Given the description of an element on the screen output the (x, y) to click on. 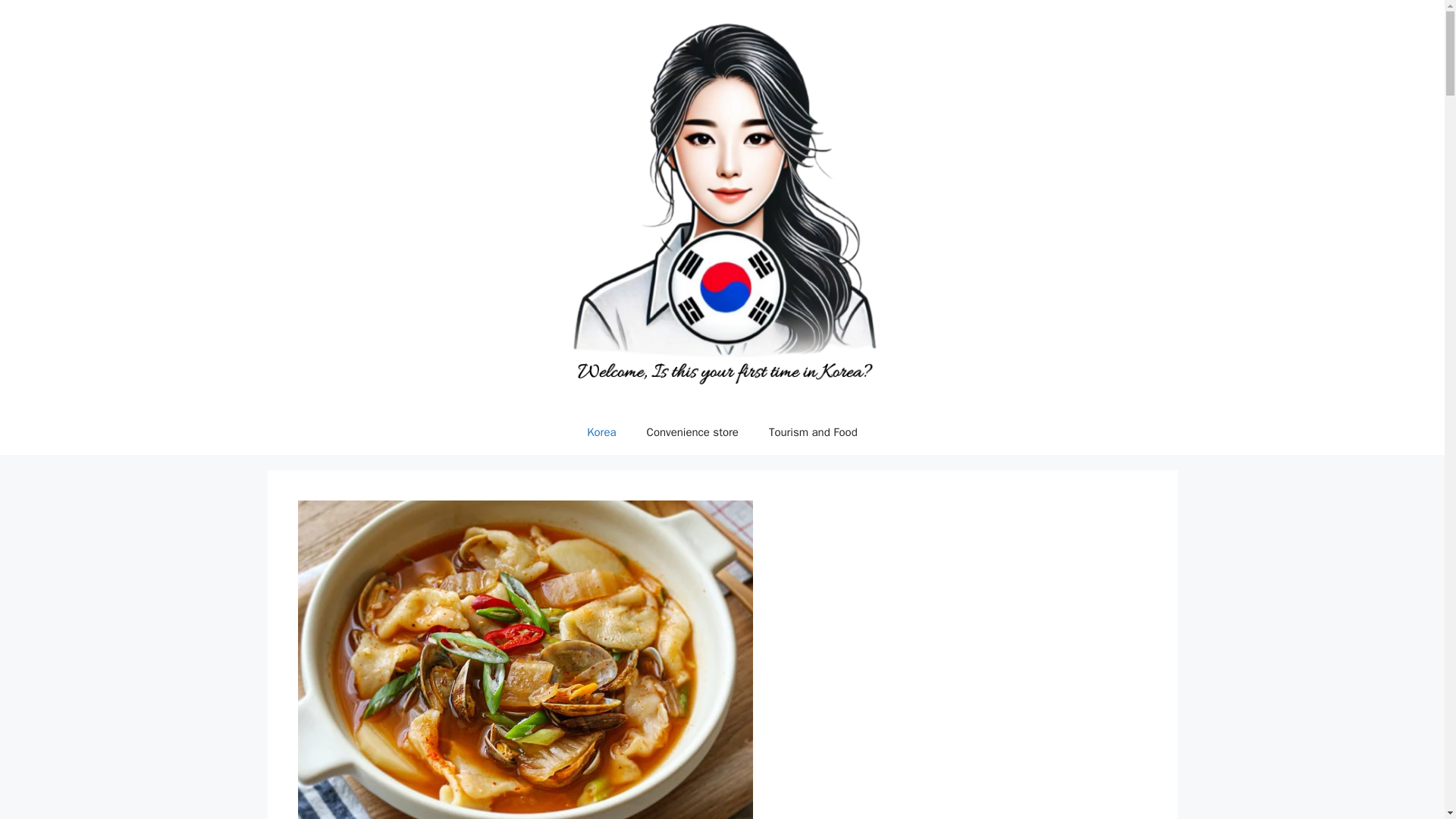
Korea (601, 432)
Tourism and Food (813, 432)
Convenience store (692, 432)
